Given the description of an element on the screen output the (x, y) to click on. 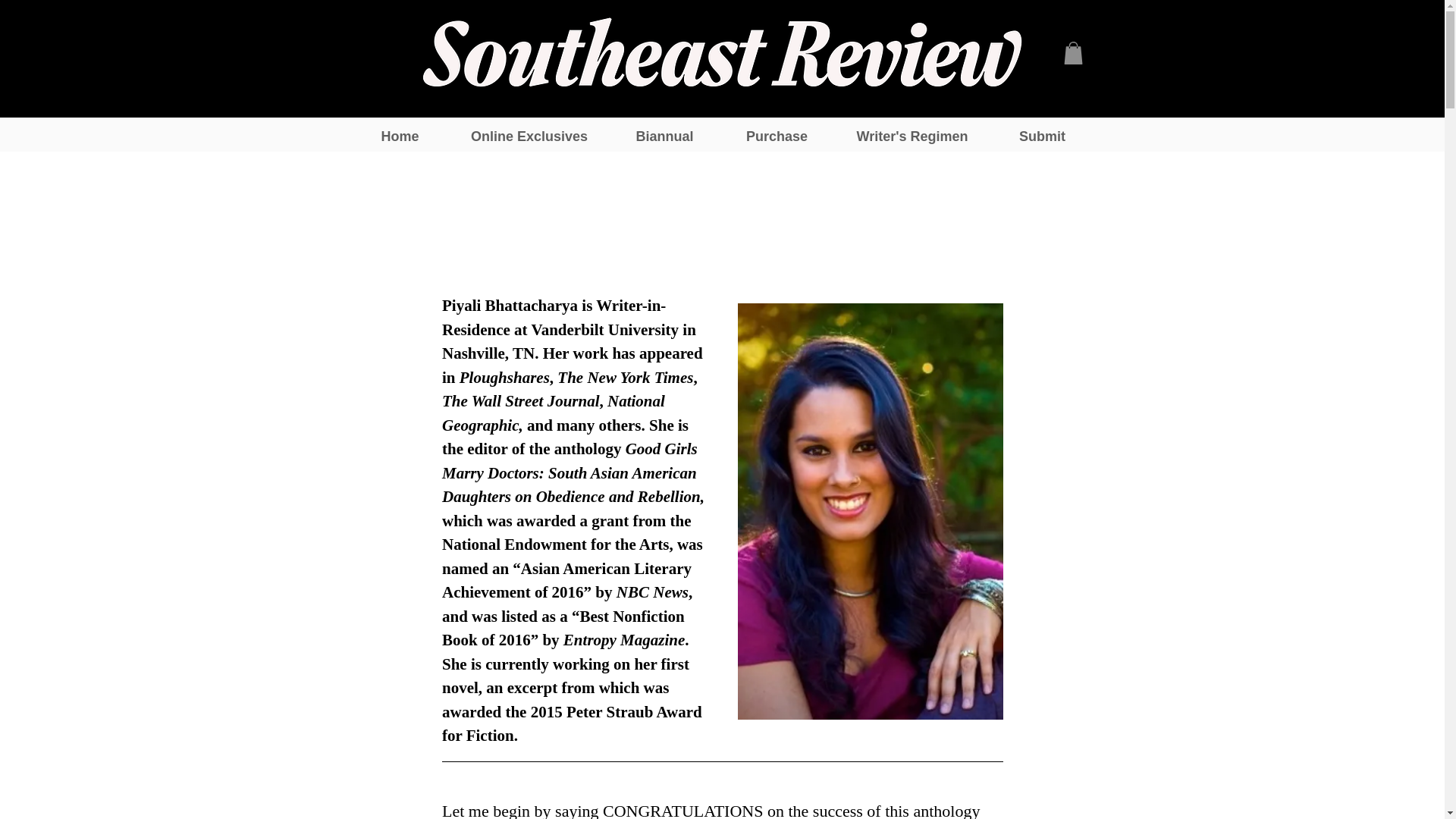
Online Exclusives (528, 136)
Writer's Regimen (912, 136)
Home (399, 136)
